Given the description of an element on the screen output the (x, y) to click on. 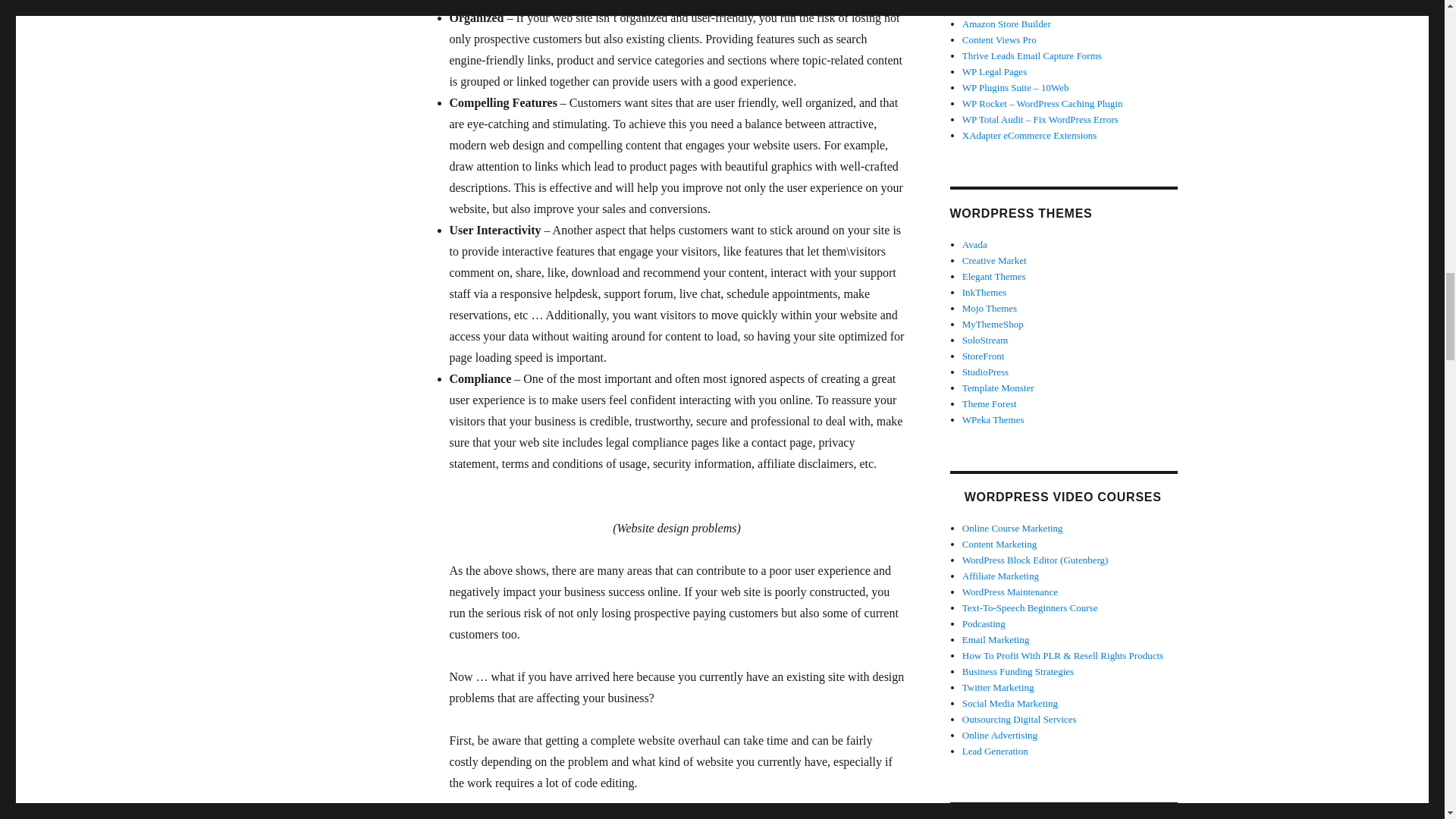
Build monetized Amazon affiliate stores quickly and easily! (1006, 23)
Display your Instagram feed on your WordPress site! (1016, 7)
